Given the description of an element on the screen output the (x, y) to click on. 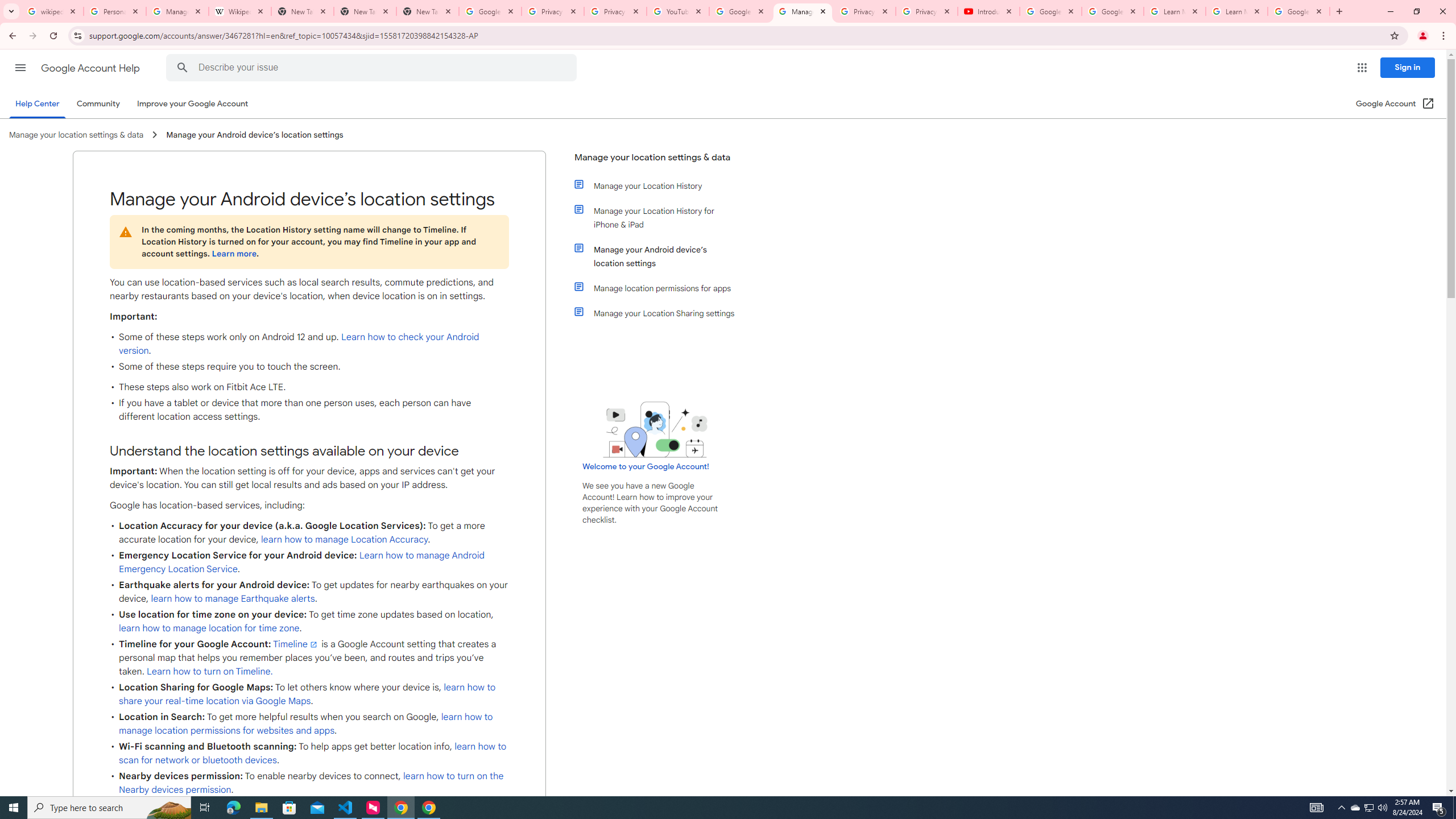
YouTube (678, 11)
Learn how to turn on Timeline. (210, 671)
Timeline (295, 644)
Introduction | Google Privacy Policy - YouTube (988, 11)
New Tab (427, 11)
